Given the description of an element on the screen output the (x, y) to click on. 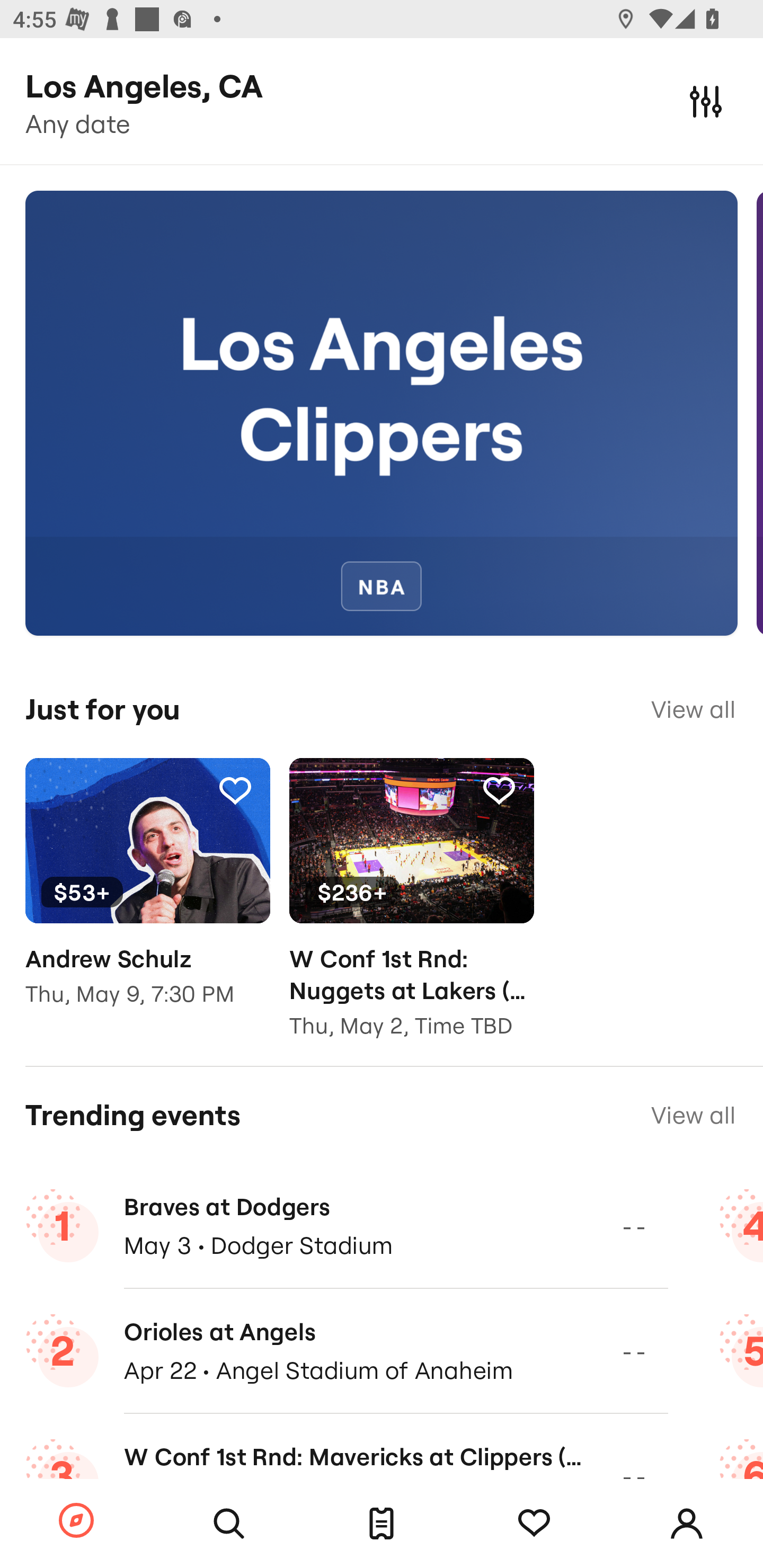
Filters (705, 100)
View all (693, 709)
Tracking $53+ Andrew Schulz Thu, May 9, 7:30 PM (147, 895)
Tracking (234, 790)
Tracking (498, 790)
View all (693, 1114)
Browse (76, 1521)
Search (228, 1523)
Tickets (381, 1523)
Tracking (533, 1523)
Account (686, 1523)
